Given the description of an element on the screen output the (x, y) to click on. 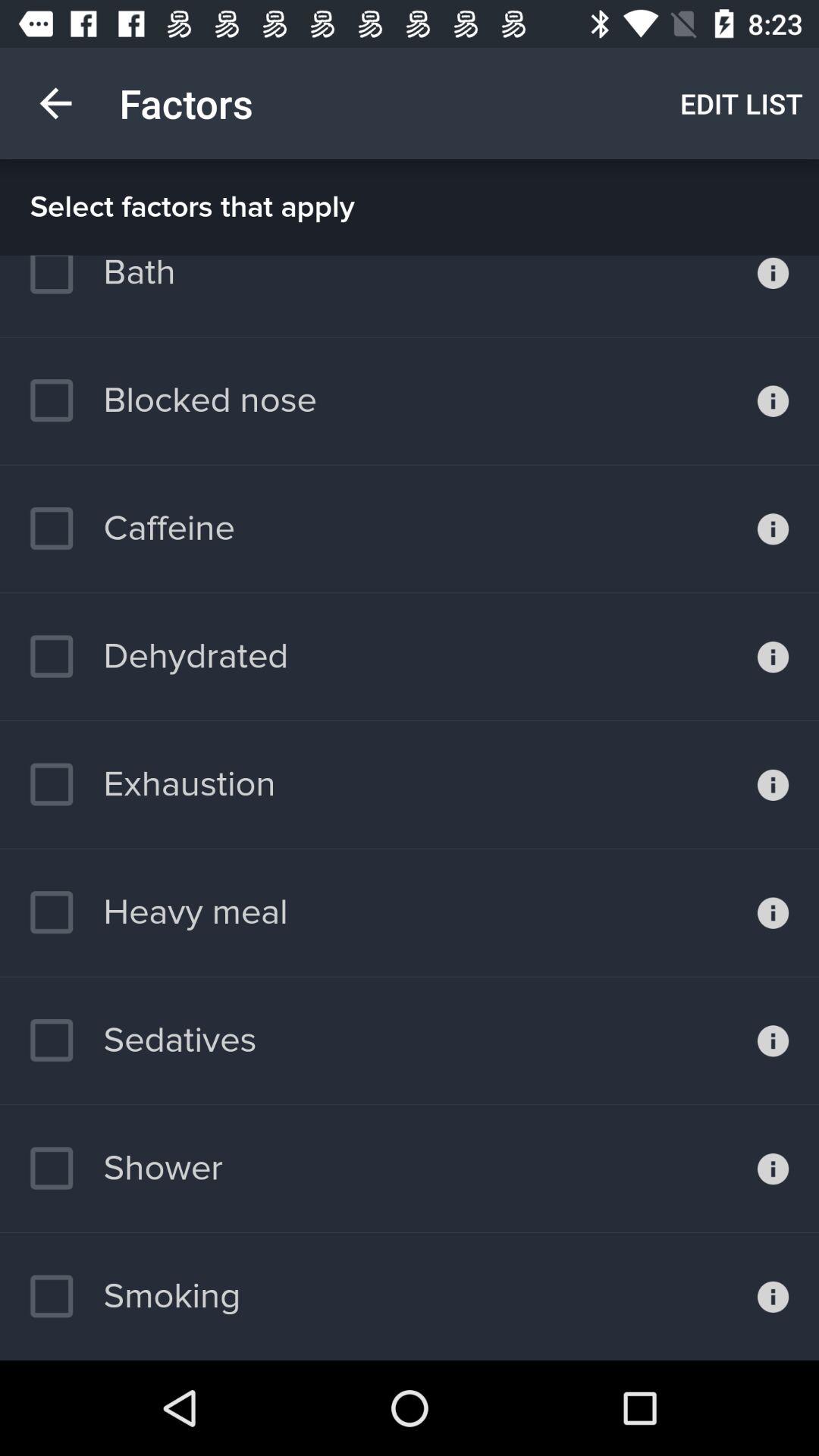
more information (773, 1296)
